Given the description of an element on the screen output the (x, y) to click on. 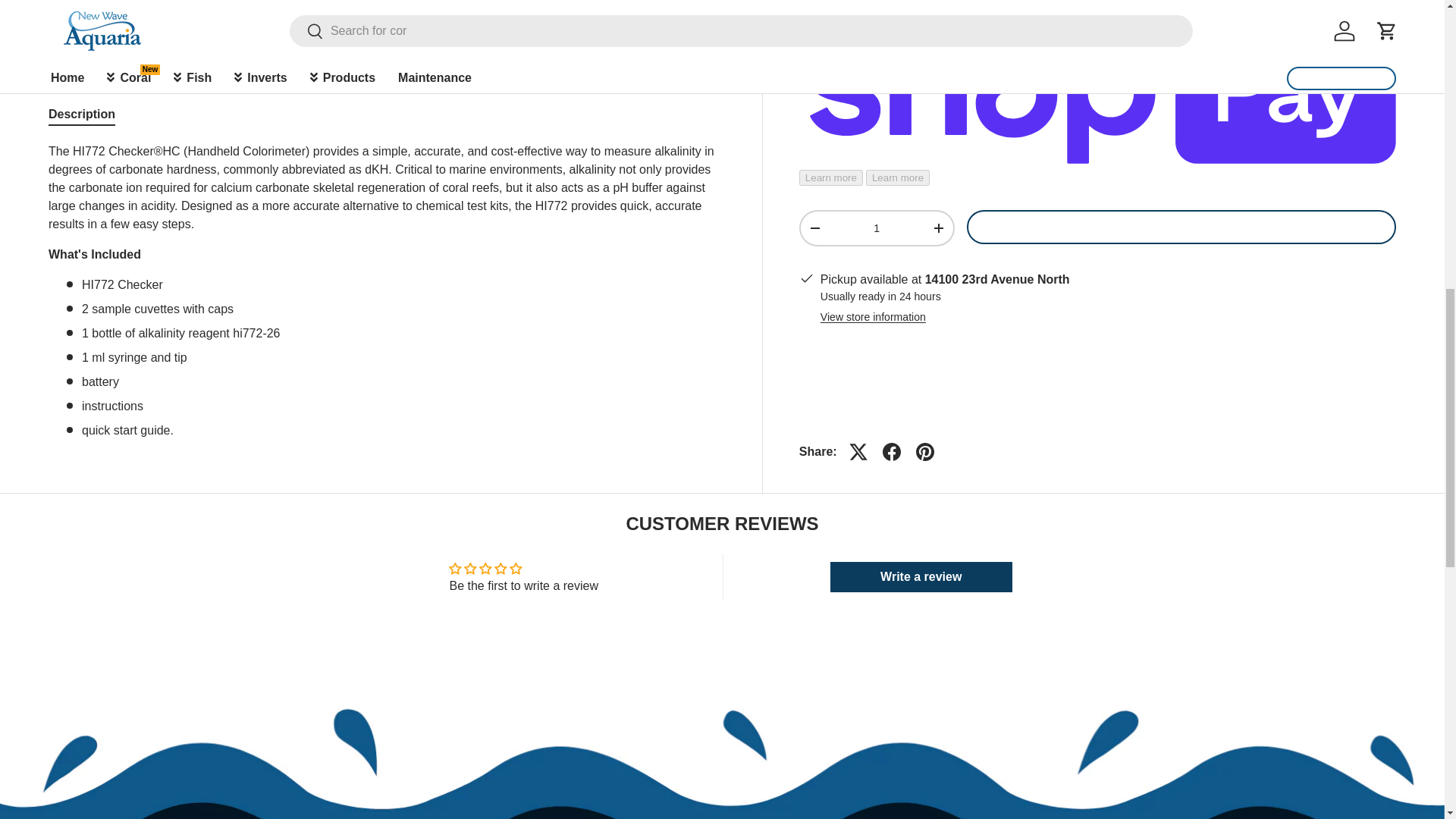
Description (386, 114)
